Given the description of an element on the screen output the (x, y) to click on. 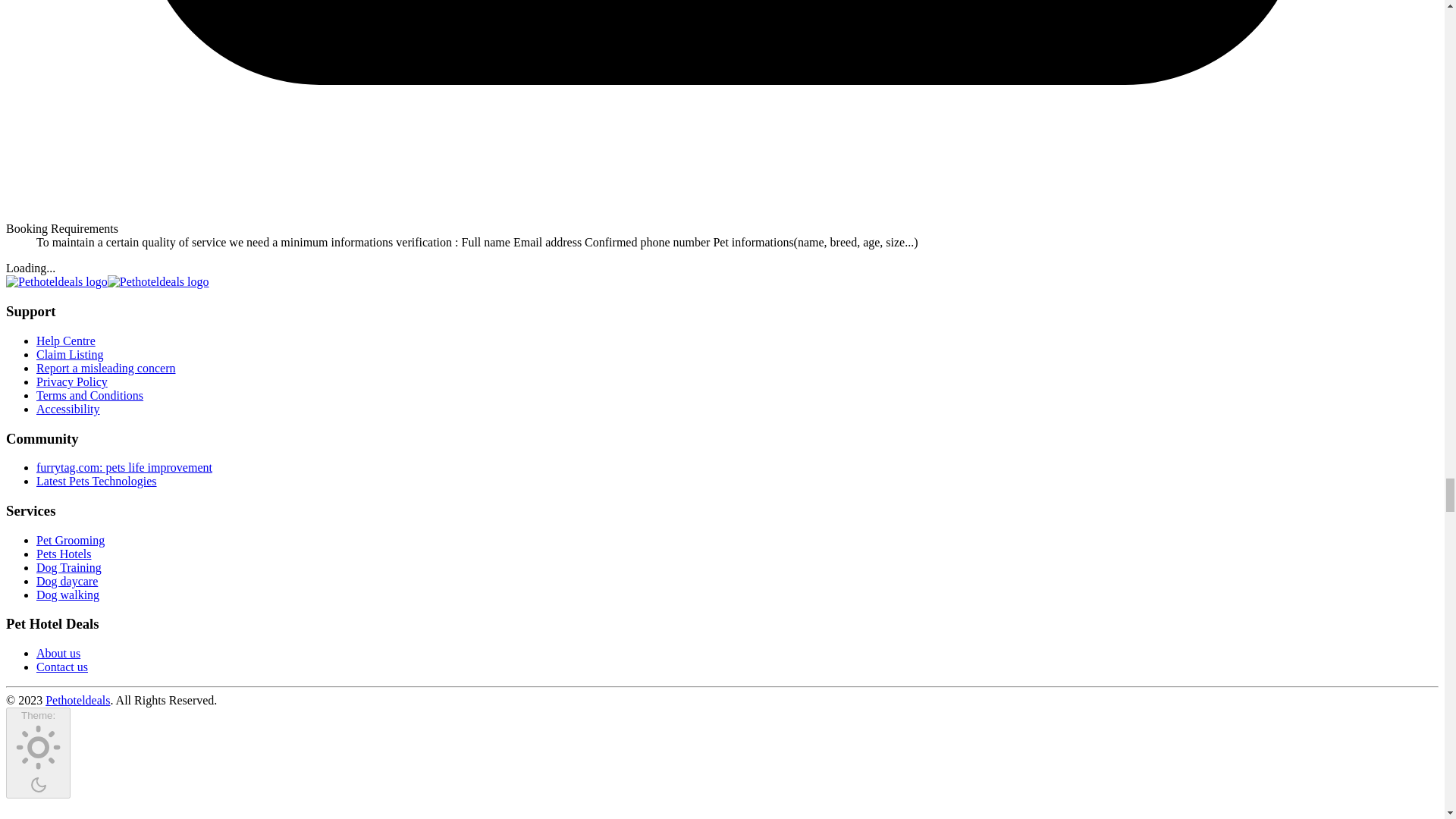
Help Centre (66, 340)
Pets Hotels (63, 553)
Accessibility (68, 408)
Terms and Conditions (89, 395)
Latest Pets Technologies (96, 481)
Pet Grooming (70, 540)
Pethoteldeals (77, 699)
Claim Listing (69, 354)
Report a misleading concern (106, 367)
furrytag.com: pets life improvement (124, 467)
Privacy Policy (71, 381)
Theme: (37, 752)
Dog Training (68, 567)
Dog walking (67, 594)
About us (58, 653)
